Given the description of an element on the screen output the (x, y) to click on. 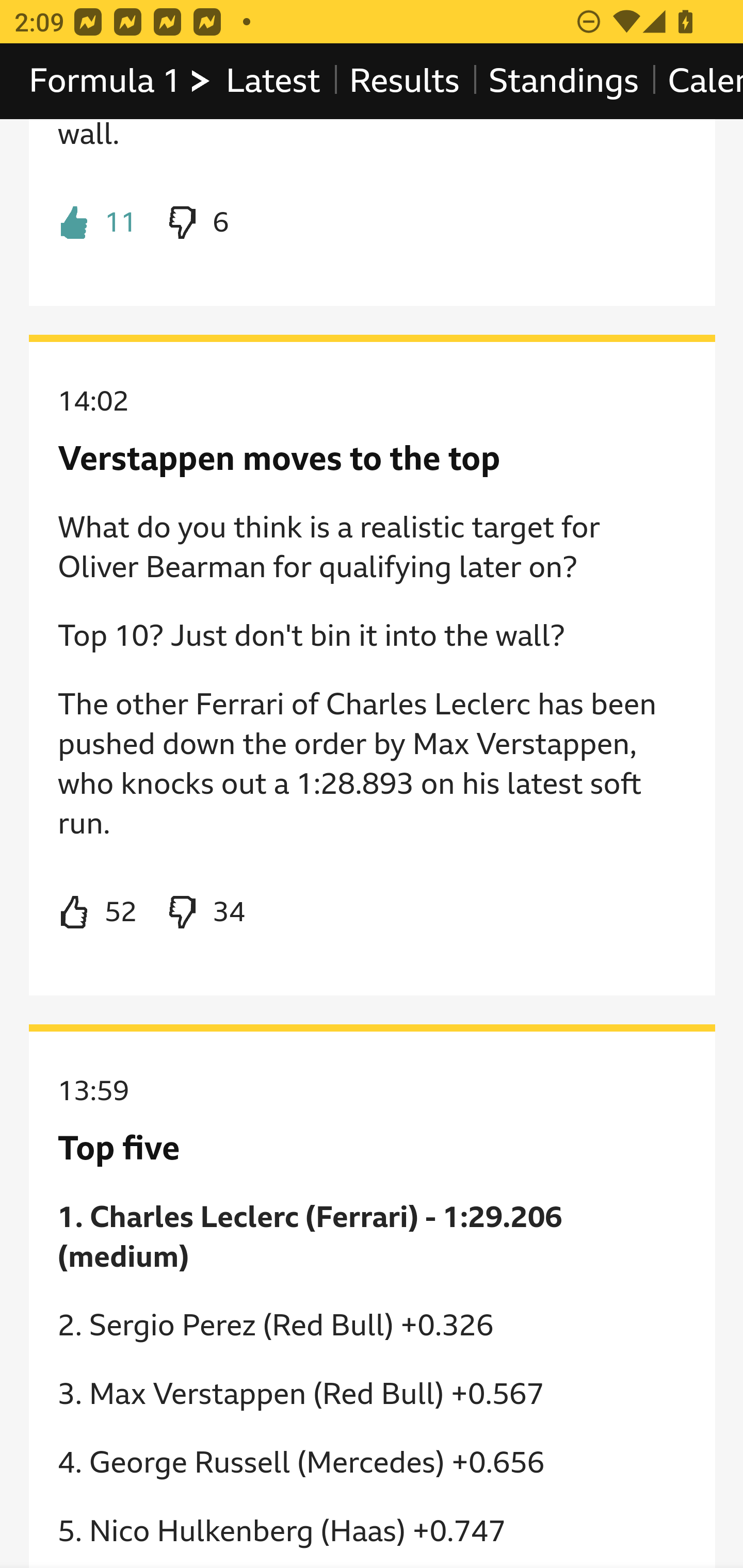
Liked (97, 222)
Dislike (196, 222)
Like (97, 912)
Dislike (204, 912)
